Given the description of an element on the screen output the (x, y) to click on. 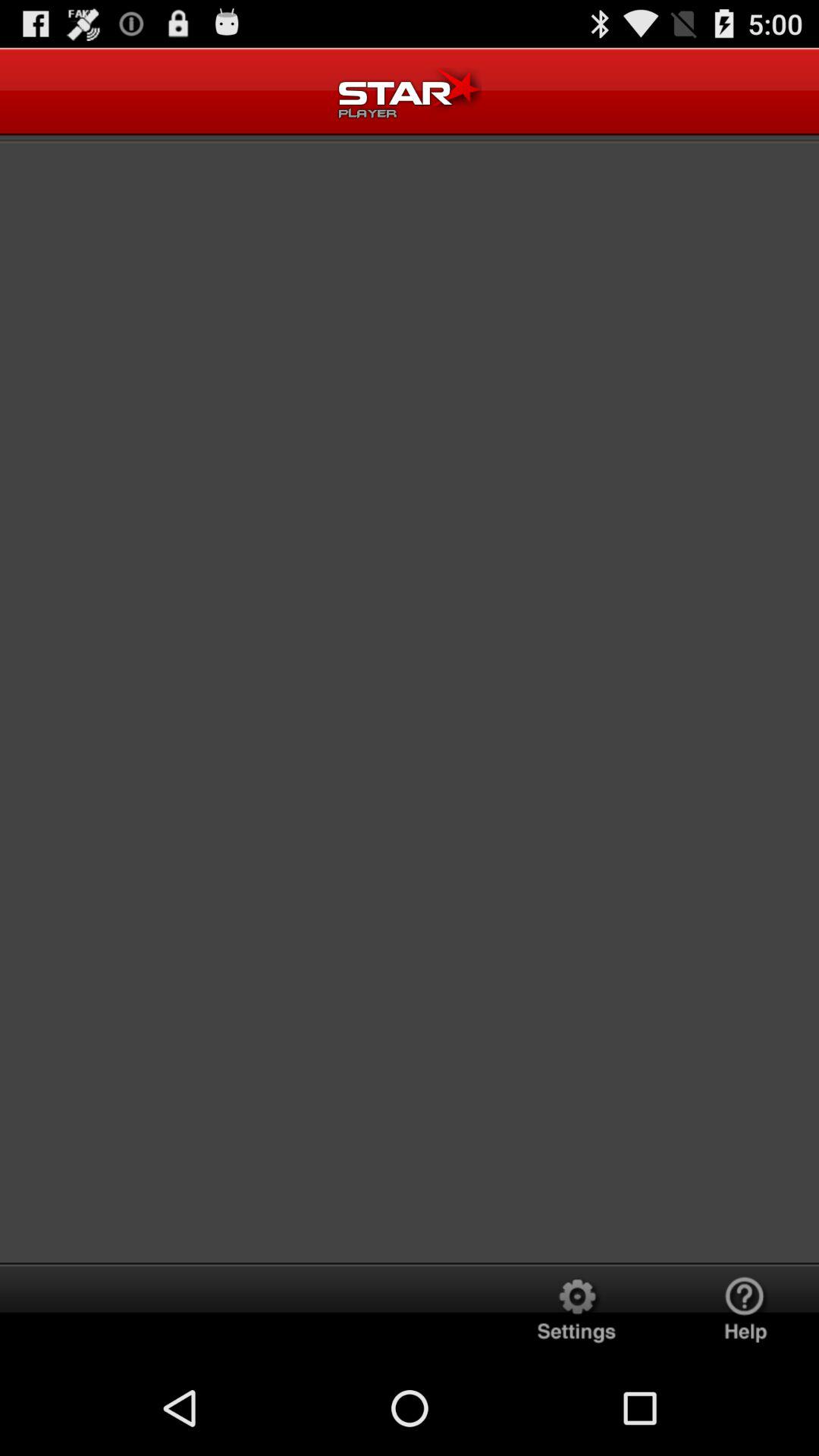
to adjust settings (576, 1311)
